Given the description of an element on the screen output the (x, y) to click on. 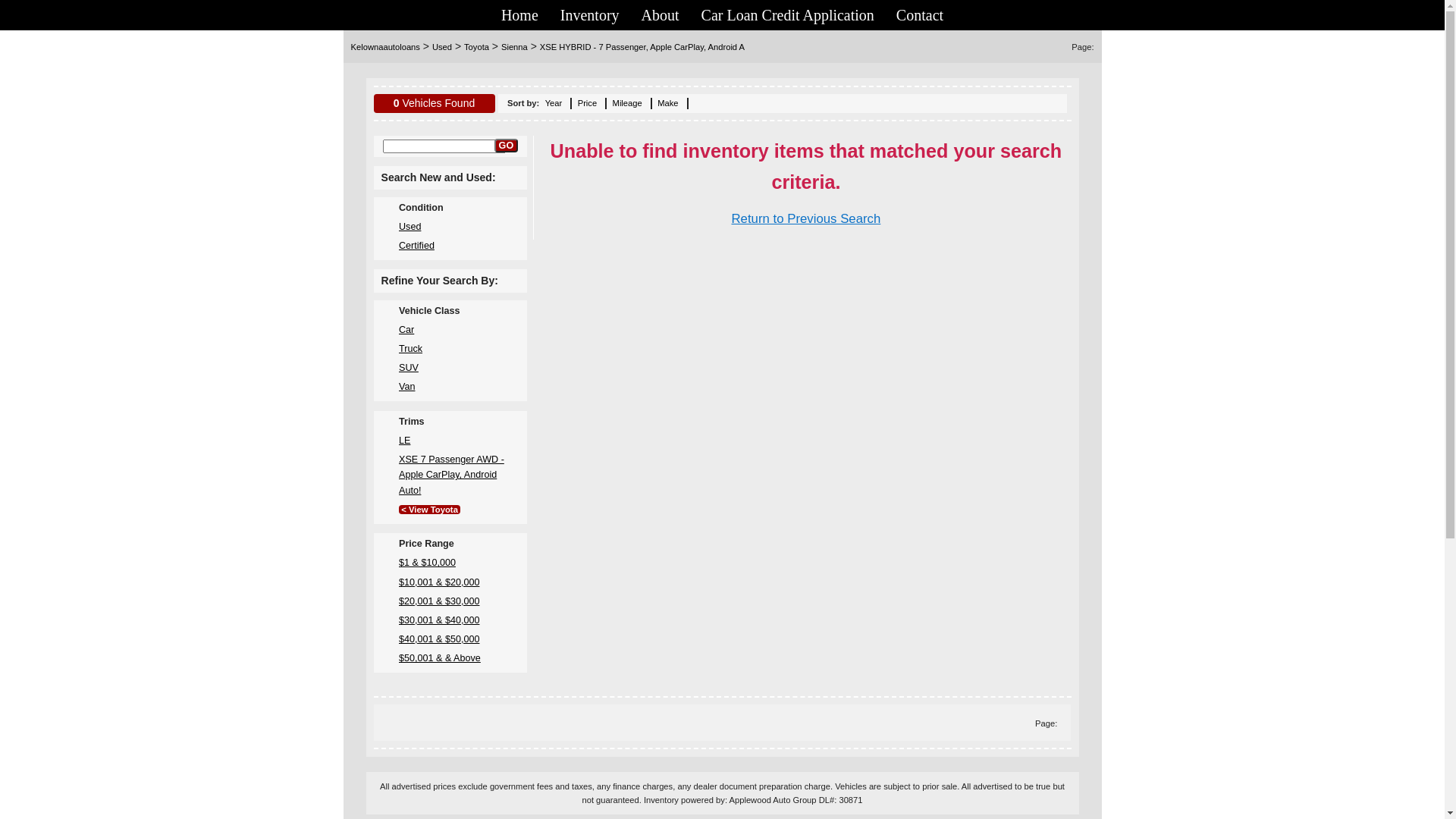
XSE 7 Passenger AWD - Apple CarPlay, Android Auto! Element type: text (451, 474)
Toyota Element type: text (476, 46)
GO Element type: text (505, 145)
Car Element type: text (406, 329)
Truck Element type: text (410, 348)
LE Element type: text (404, 440)
Price Element type: text (587, 102)
Mileage Element type: text (627, 102)
$10,001 & $20,000 Element type: text (438, 582)
Van Element type: text (406, 386)
Sienna Element type: text (514, 46)
$40,001 & $50,000 Element type: text (438, 638)
Make Element type: text (667, 102)
Inventory Element type: text (589, 15)
$20,001 & $30,000 Element type: text (438, 601)
Used Element type: text (409, 226)
Contact Element type: text (919, 15)
Return to Previous Search Element type: text (805, 218)
Car Loan Credit Application Element type: text (787, 15)
SUV Element type: text (408, 367)
$50,001 & & Above Element type: text (439, 657)
XSE HYBRID - 7 Passenger, Apple CarPlay, Android A Element type: text (641, 46)
Certified Element type: text (416, 245)
Year Element type: text (553, 102)
$30,001 & $40,000 Element type: text (438, 620)
< View Toyota Element type: text (429, 509)
Home Element type: text (519, 15)
Kelownaautoloans Element type: text (384, 46)
$1 & $10,000 Element type: text (426, 562)
Used Element type: text (441, 46)
About Element type: text (660, 15)
